Given the description of an element on the screen output the (x, y) to click on. 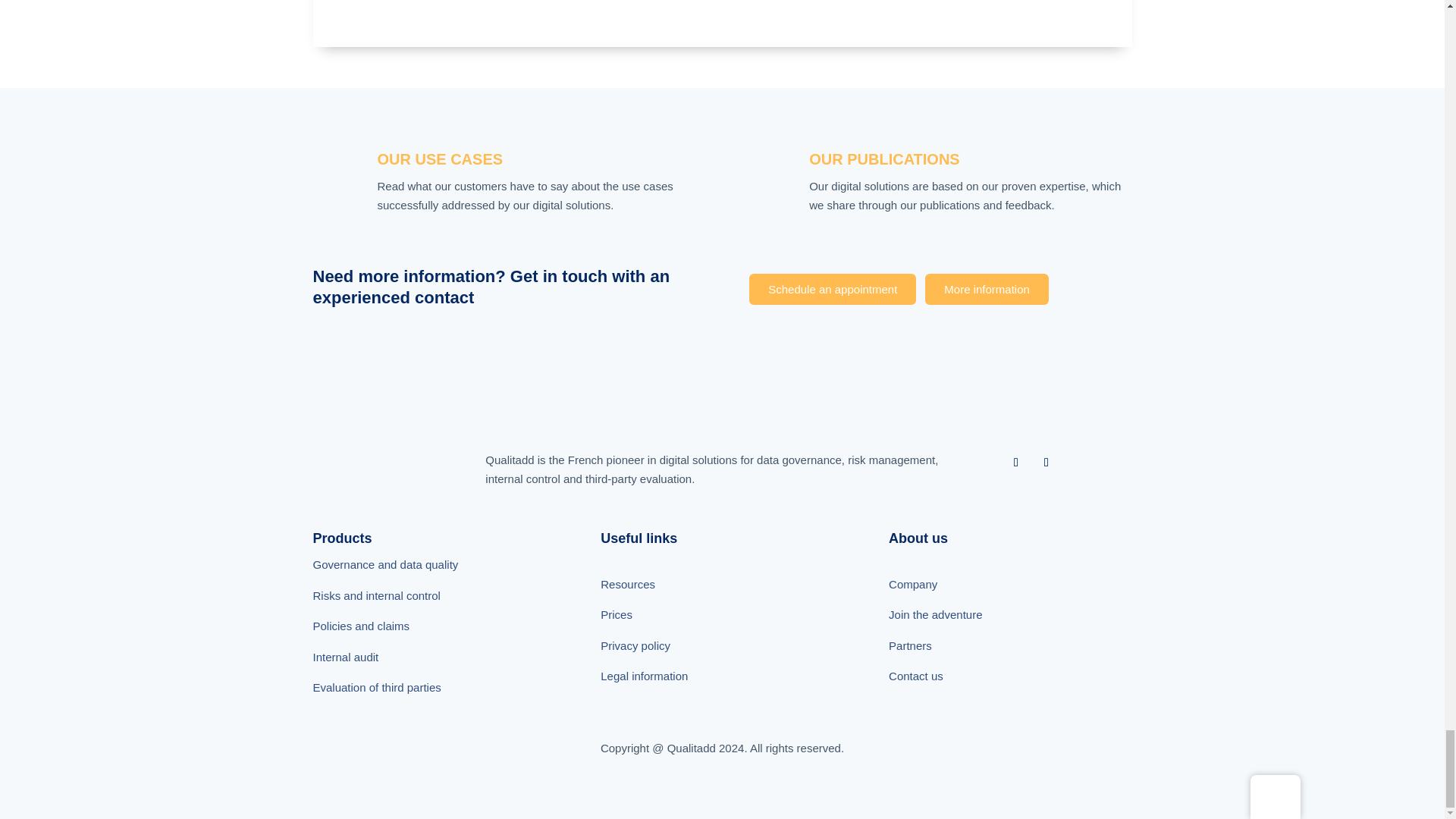
Internal audit (345, 656)
Schedule an appointment (832, 289)
Prices (615, 614)
Evaluation of third parties (377, 686)
More information (986, 289)
Governance and data quality (385, 563)
Risks and internal control (376, 594)
Resources (627, 584)
Policies and claims (361, 625)
